Given the description of an element on the screen output the (x, y) to click on. 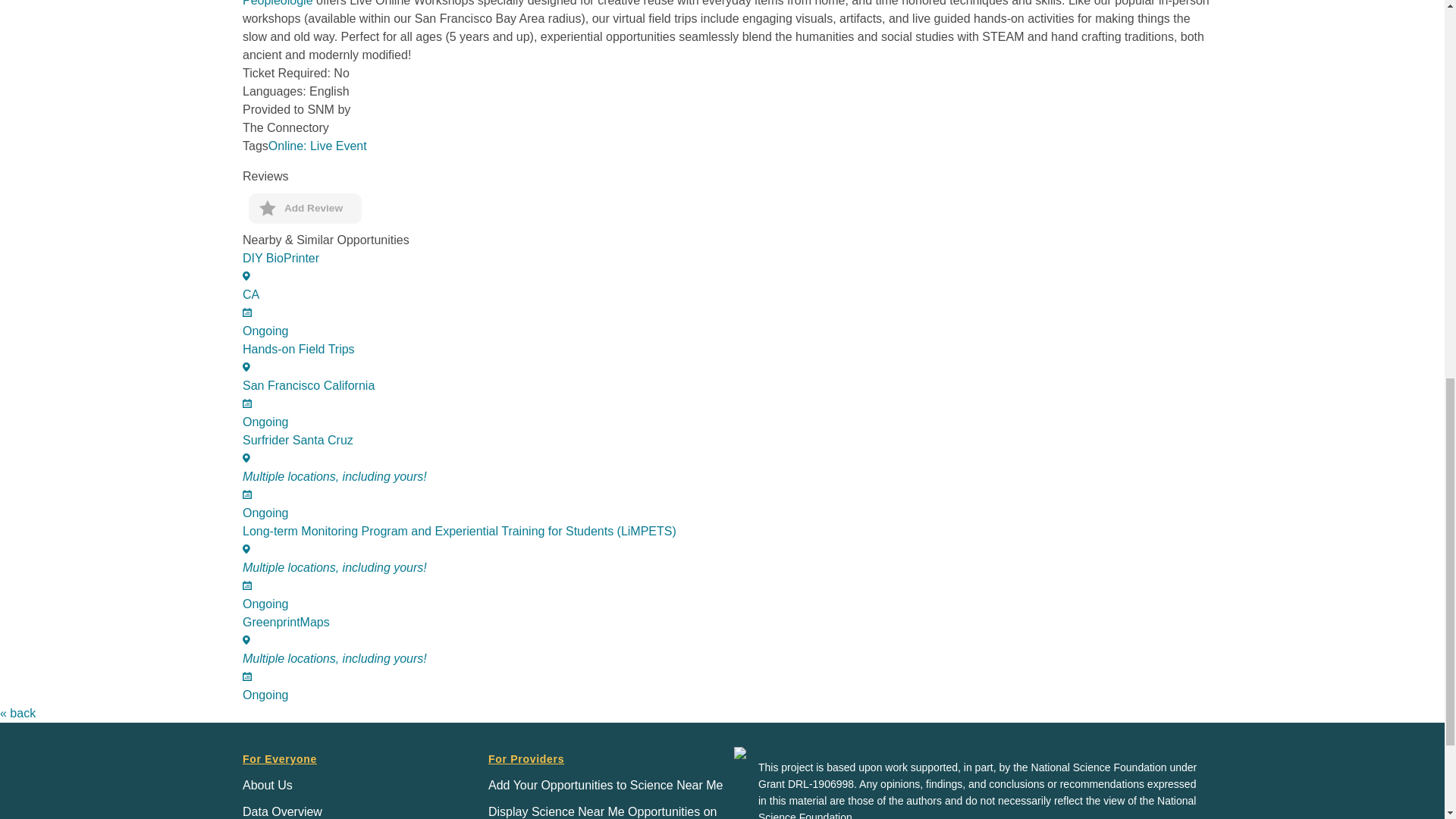
Add Review (304, 208)
Peopleologie (727, 658)
About Us (727, 294)
Data Overview (727, 385)
Online: Live Event (278, 3)
